Given the description of an element on the screen output the (x, y) to click on. 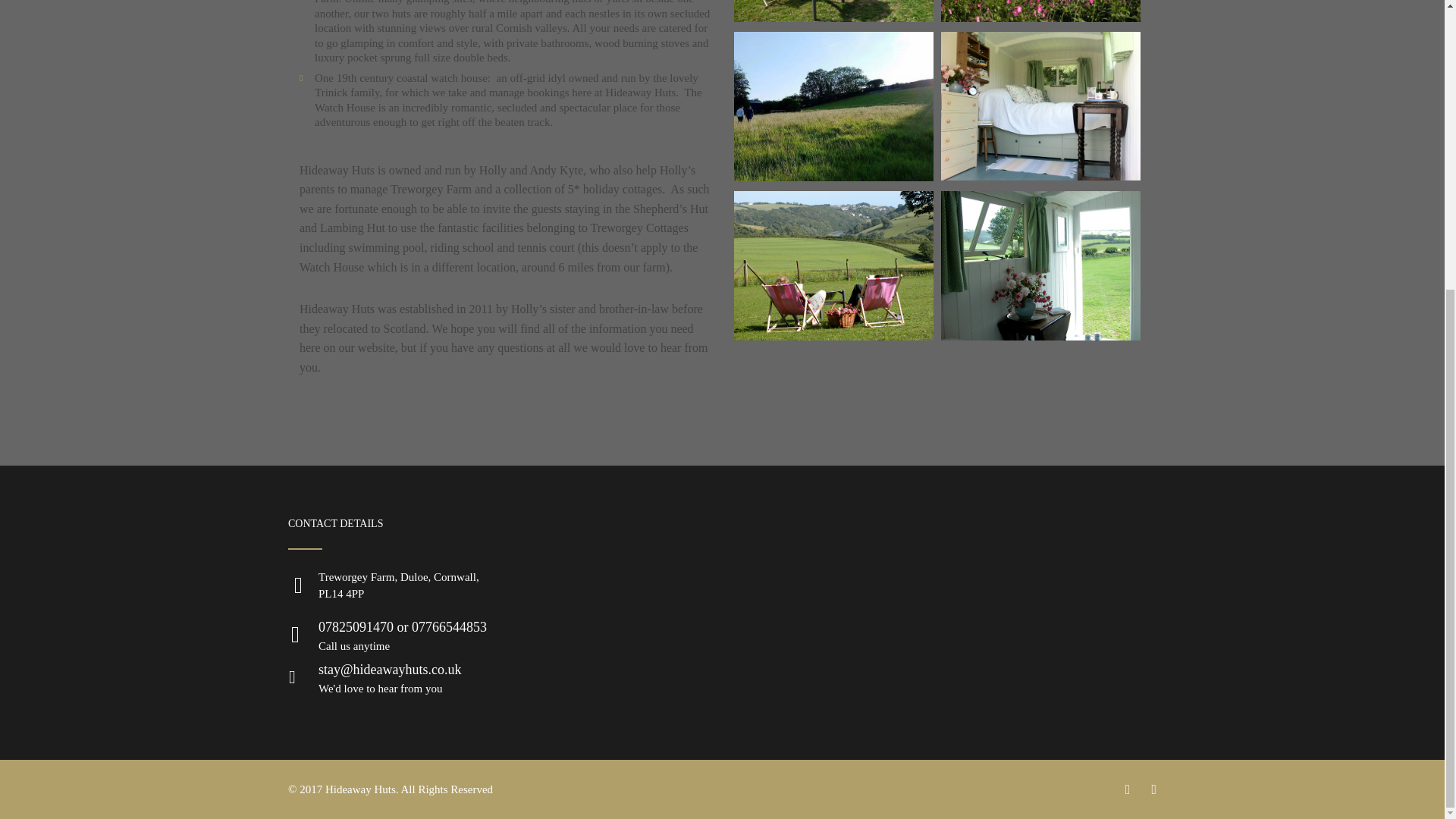
view with flowers (1040, 17)
hut deckchairs (833, 336)
Ready-for breakfast (833, 17)
The-view-from-the-door (1040, 336)
The-comfy-bed (1040, 175)
below the lambing hut (833, 176)
